Given the description of an element on the screen output the (x, y) to click on. 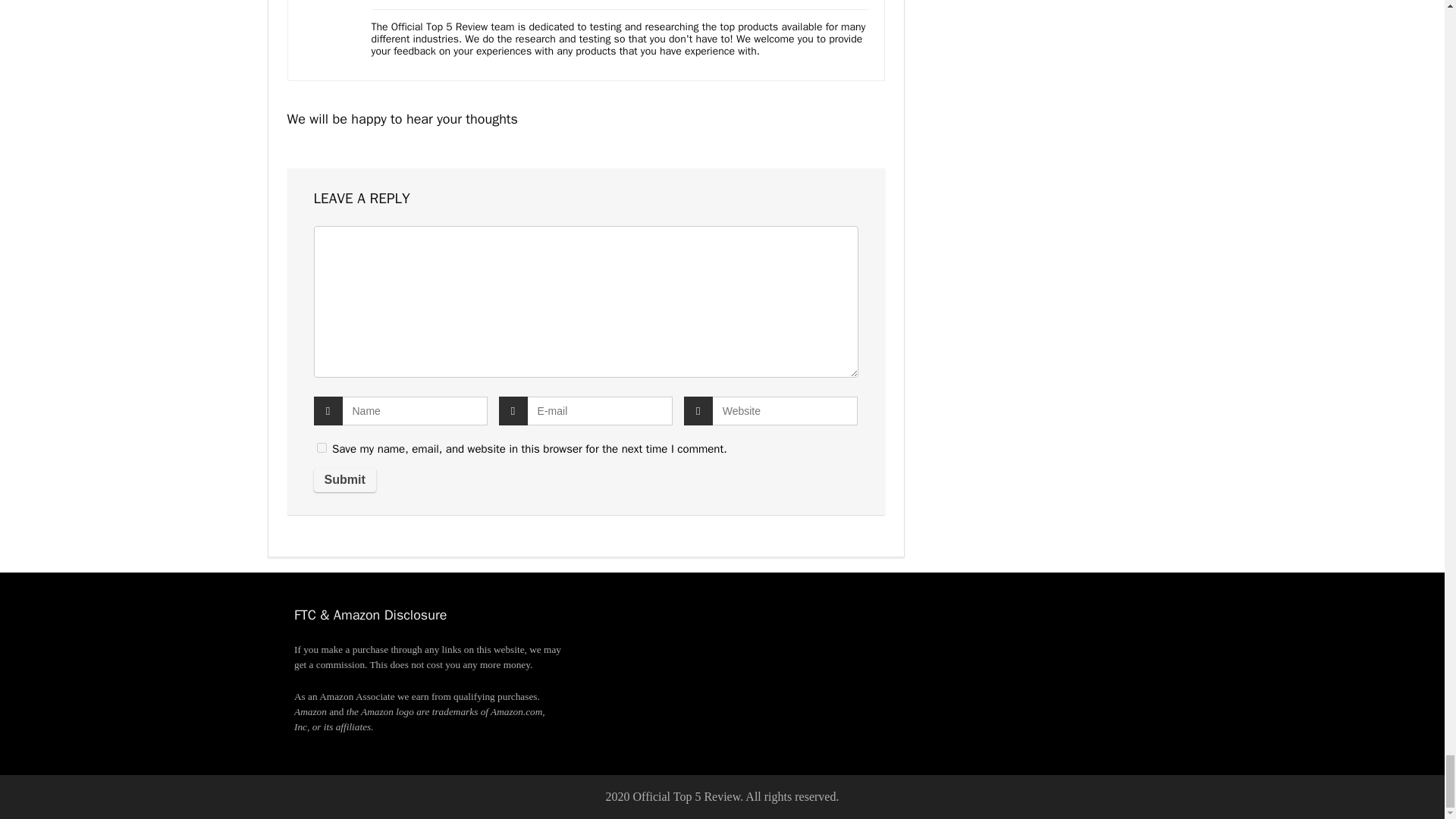
Submit (344, 479)
yes (321, 447)
